Given the description of an element on the screen output the (x, y) to click on. 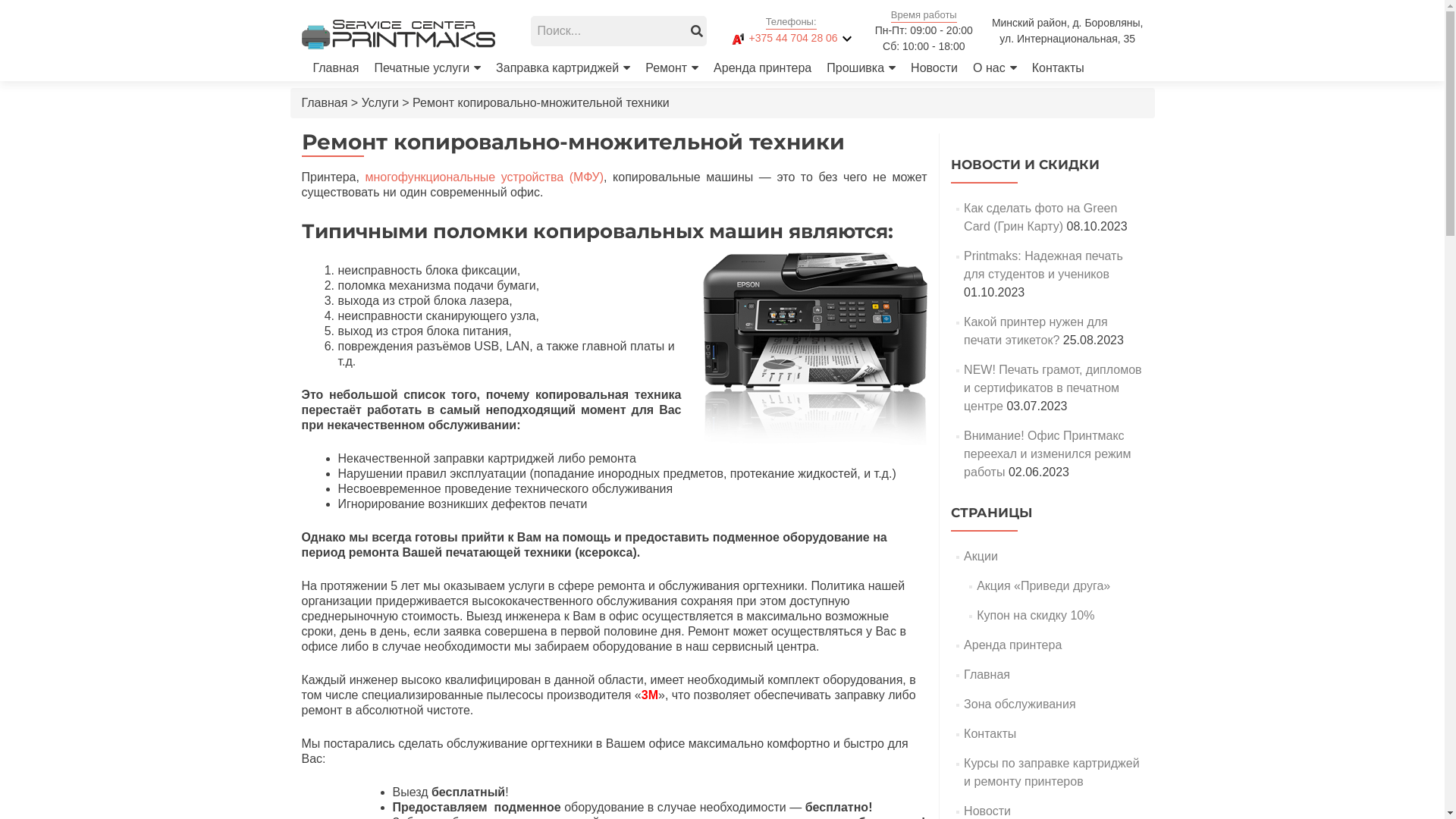
+375 44 704 28 06 Element type: text (781, 38)
